Given the description of an element on the screen output the (x, y) to click on. 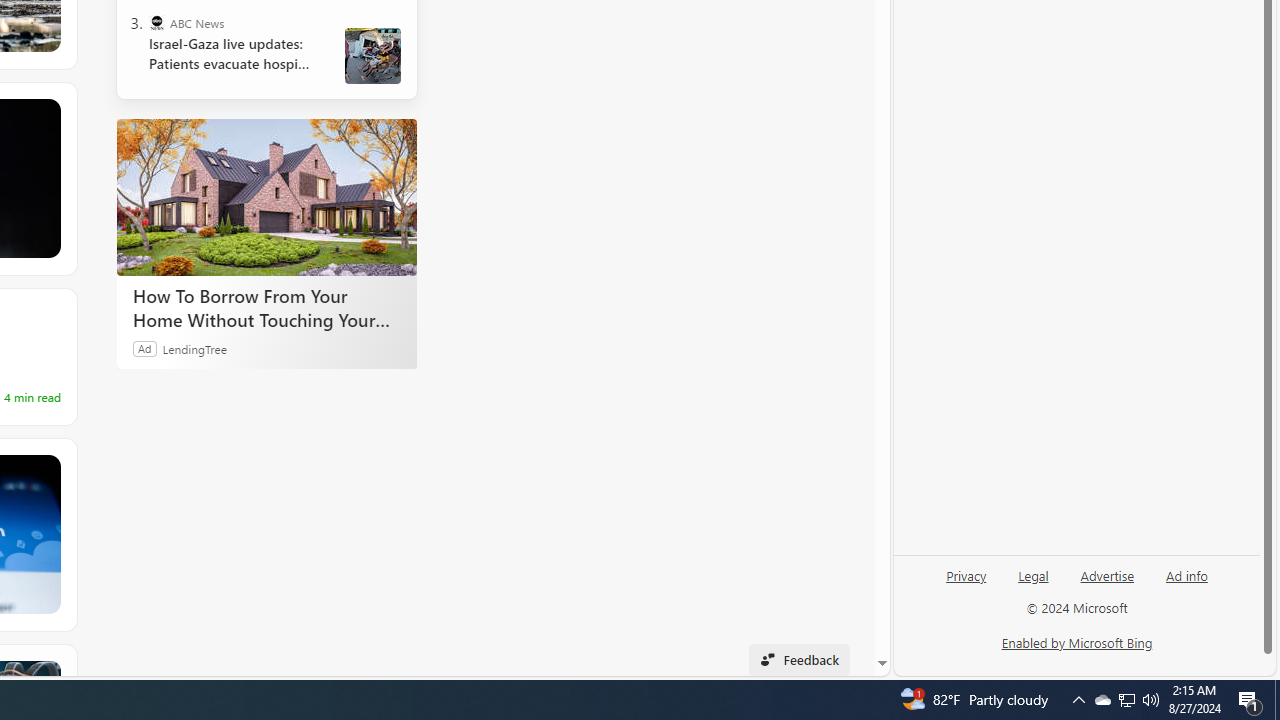
LendingTree (194, 348)
ABC News (156, 22)
